Given the description of an element on the screen output the (x, y) to click on. 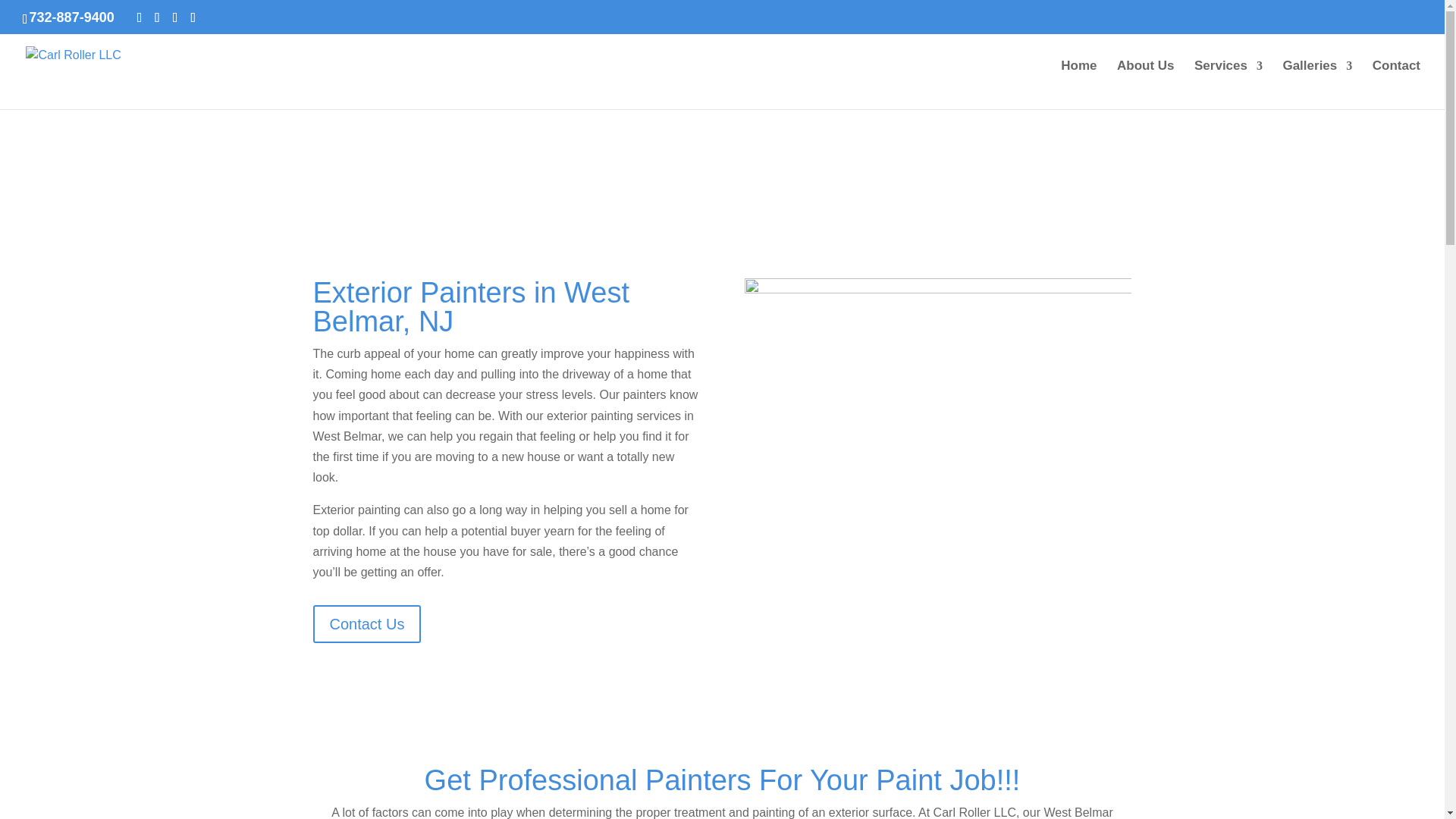
About Us (1145, 84)
pexels-erik-mclean-9011363 (937, 407)
Contact (1397, 84)
Services (1227, 84)
Galleries (1317, 84)
Contact Us (366, 623)
